Given the description of an element on the screen output the (x, y) to click on. 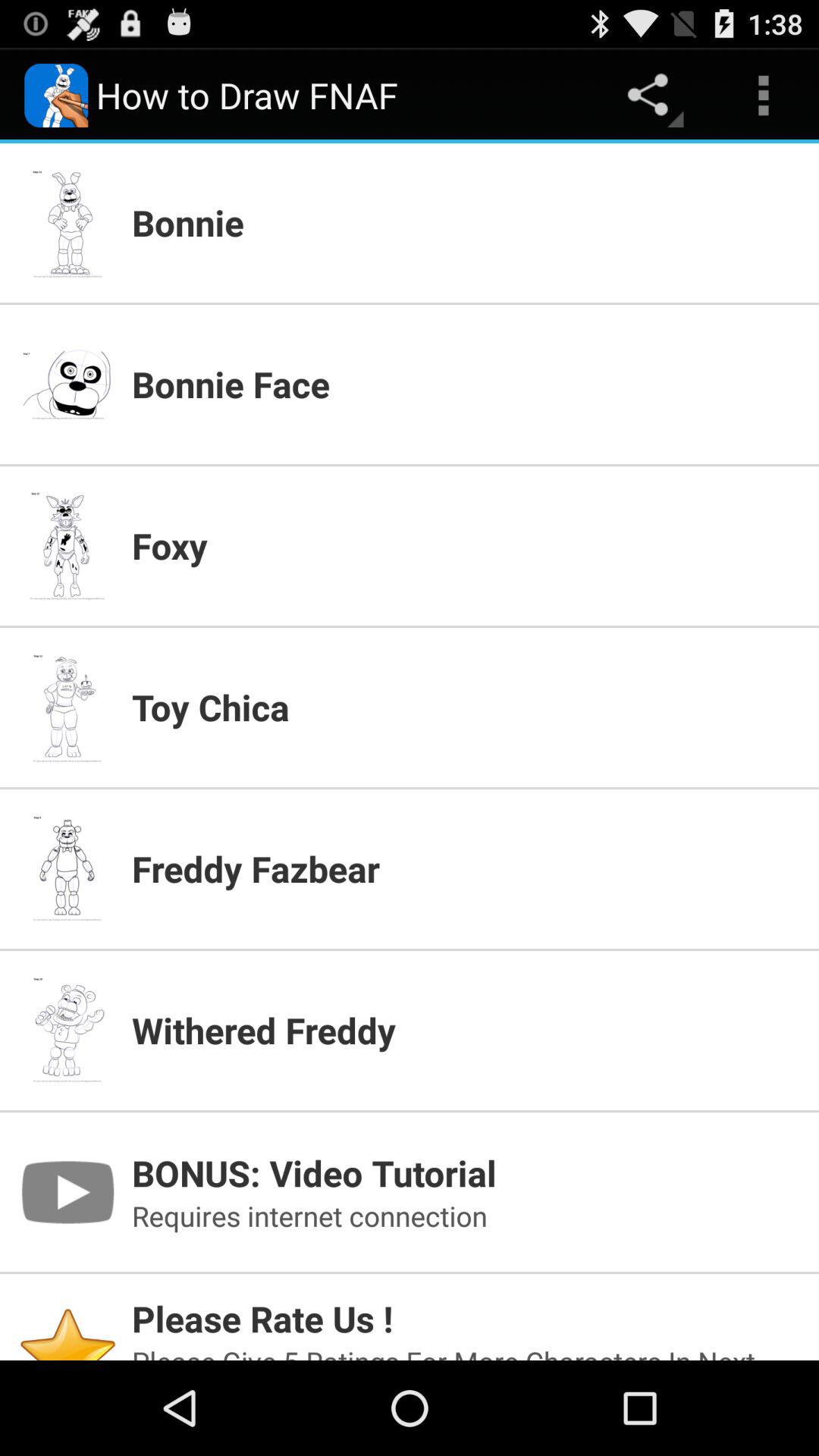
launch withered freddy (465, 1030)
